Given the description of an element on the screen output the (x, y) to click on. 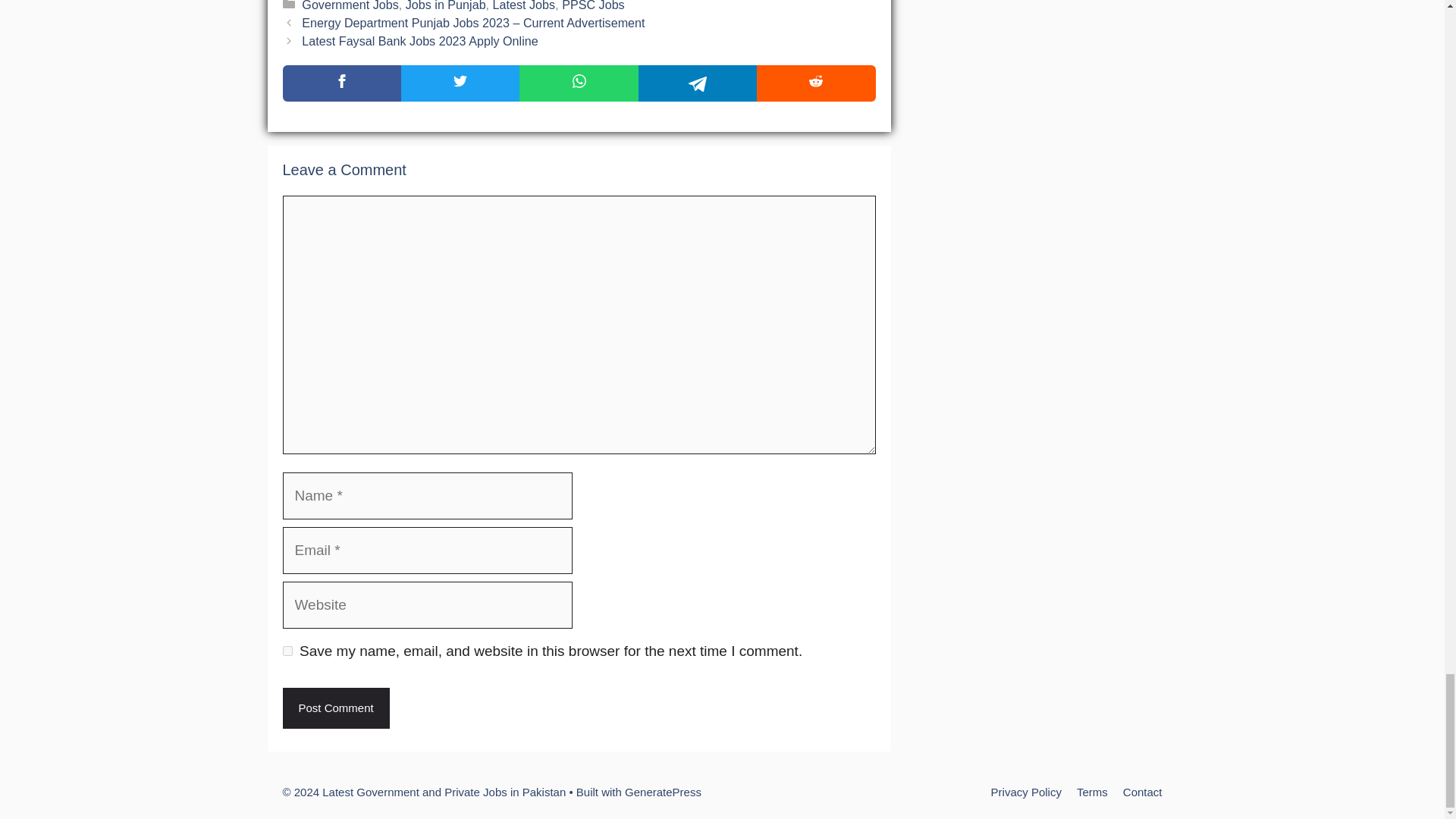
GeneratePress (662, 791)
Privacy Policy (1026, 791)
Terms (1092, 791)
PPSC Jobs (593, 5)
Government Jobs (349, 5)
Post Comment (335, 707)
yes (287, 651)
Contact (1141, 791)
Latest Jobs (524, 5)
Latest Faysal Bank Jobs 2023 Apply Online (419, 40)
Post Comment (335, 707)
Jobs in Punjab (446, 5)
